Given the description of an element on the screen output the (x, y) to click on. 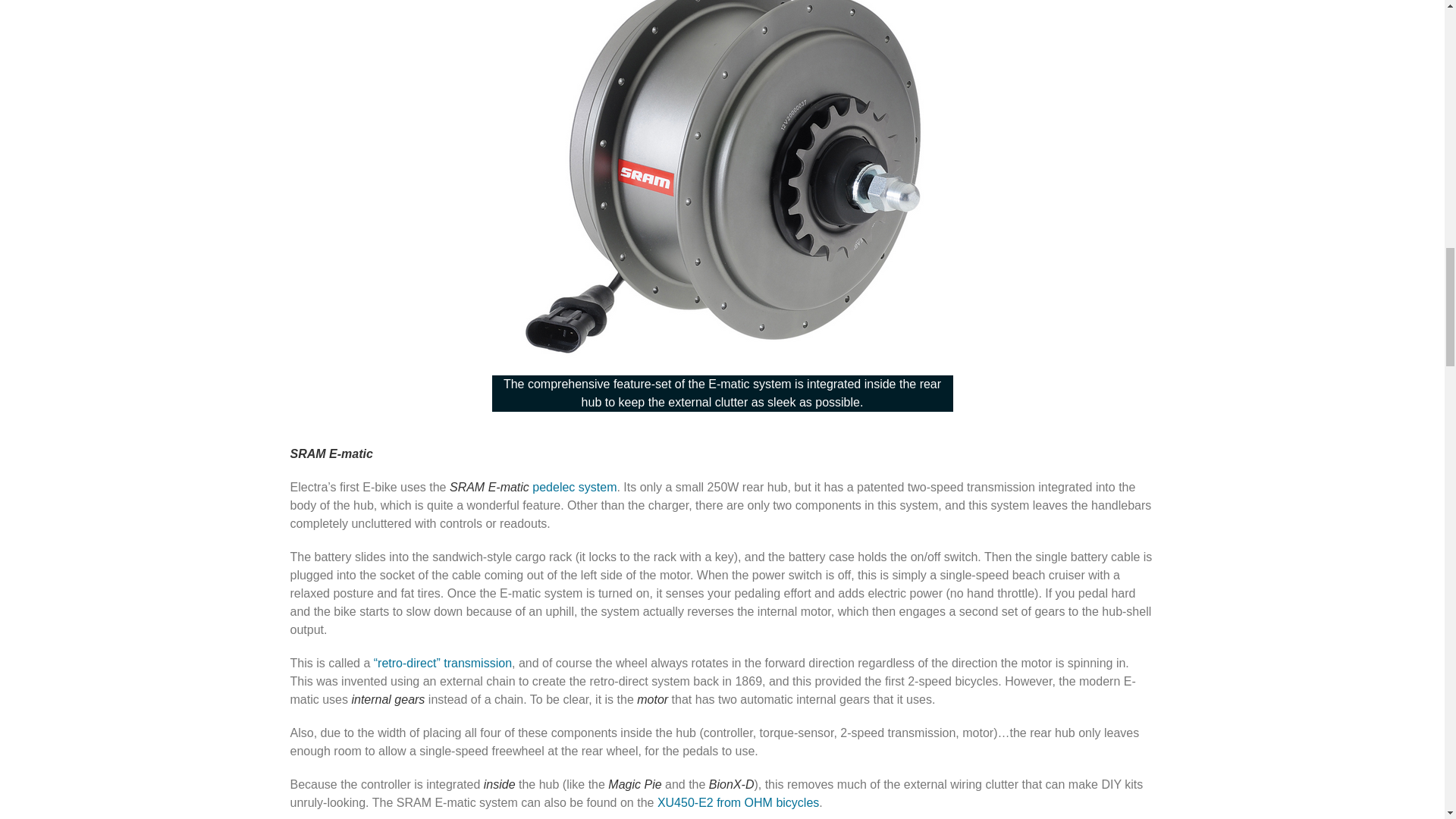
Magic Pie (634, 784)
SRAM E-matic pedelec system (533, 486)
BionX-D (731, 784)
XU450-E2 from OHM bicycles (738, 802)
